Given the description of an element on the screen output the (x, y) to click on. 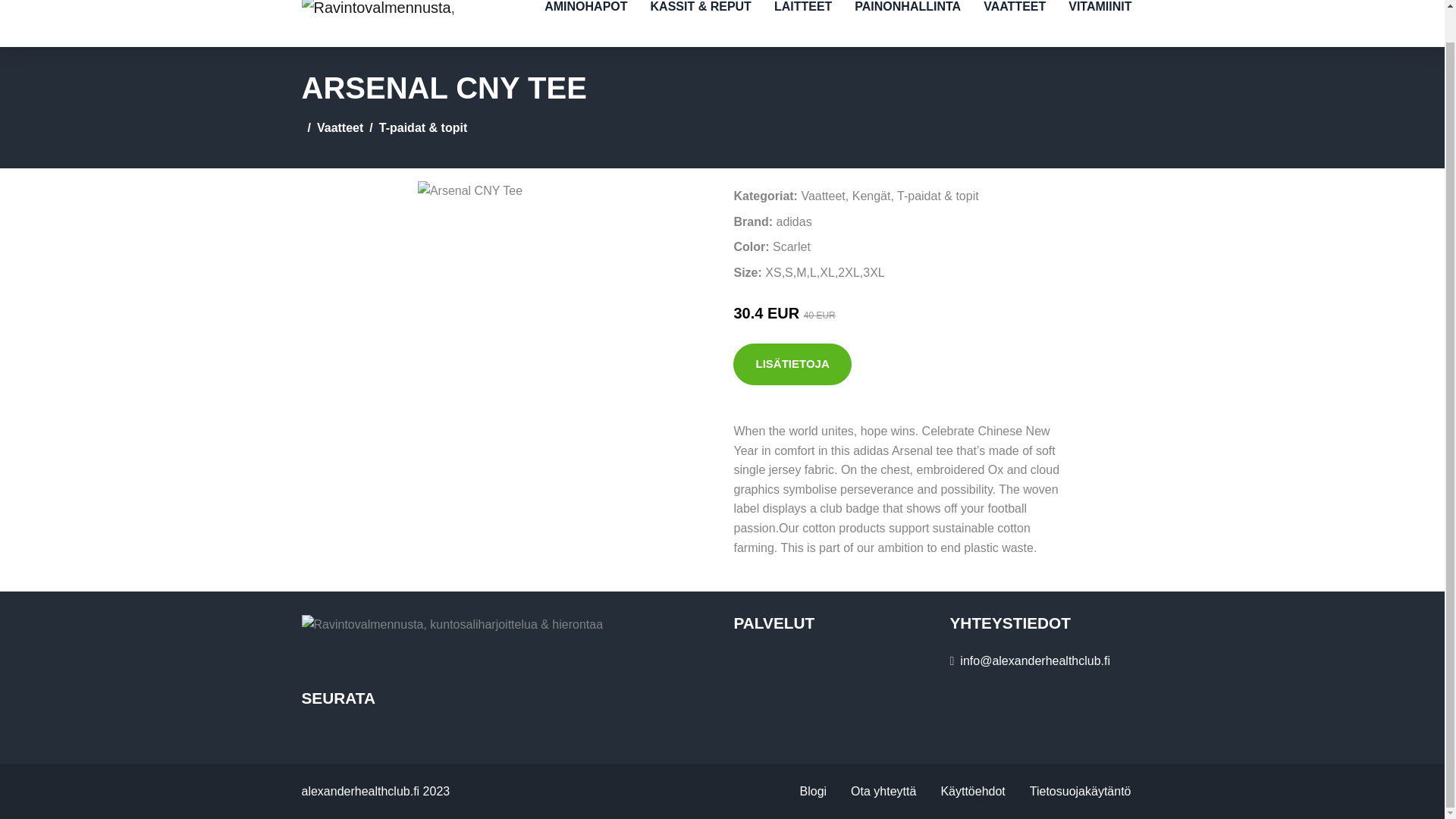
LAITTEET (802, 23)
PAINONHALLINTA (907, 23)
AMINOHAPOT (585, 23)
Blogi (813, 791)
Vaatteet (339, 127)
Vaatteet (822, 195)
VITAMIINIT (1099, 23)
VAATTEET (1014, 23)
